Given the description of an element on the screen output the (x, y) to click on. 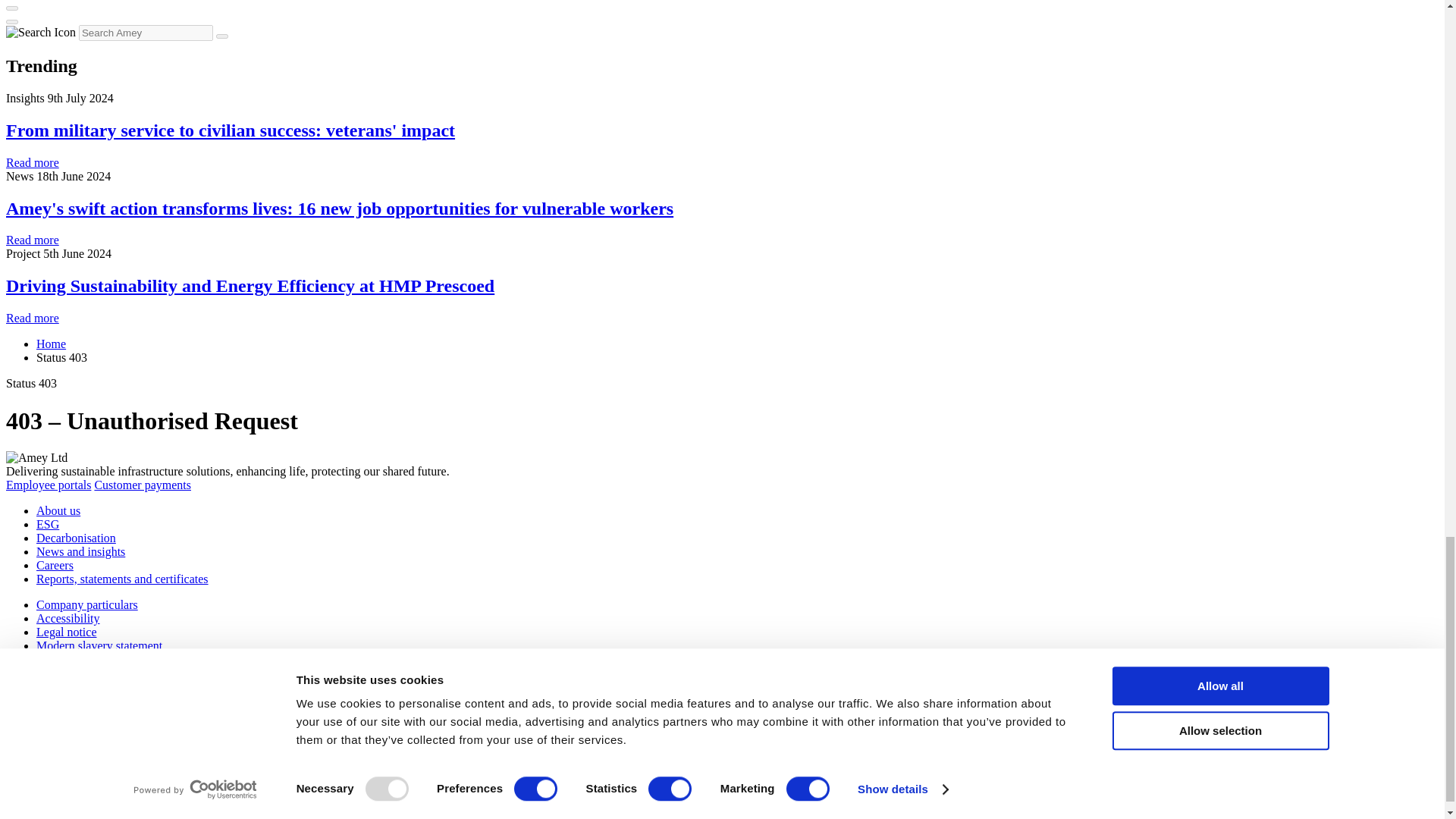
Search (221, 36)
